Given the description of an element on the screen output the (x, y) to click on. 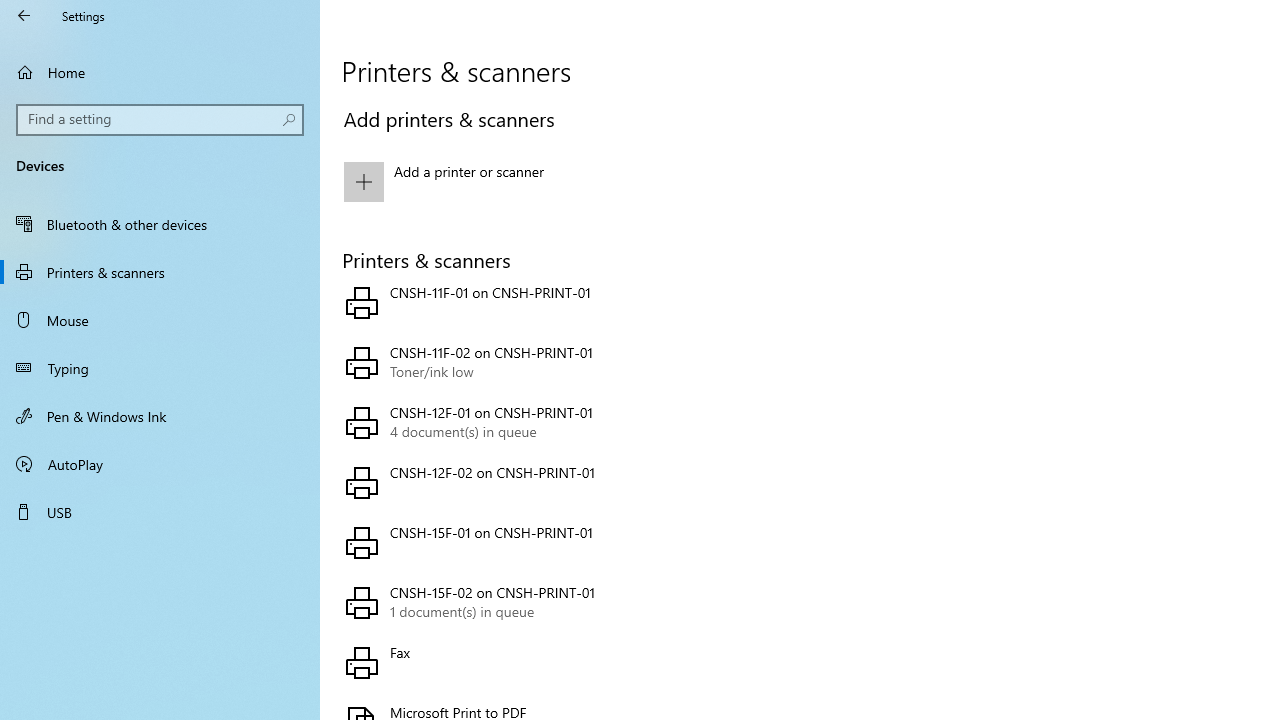
Typing (160, 367)
USB (160, 511)
Pen & Windows Ink (160, 415)
CNSH-12F-01 on CNSH-PRINT-01 4 document(s) in queue (563, 422)
Add a printer or scanner (563, 181)
Fax (563, 662)
Printers & scanners (160, 271)
CNSH-11F-01 on CNSH-PRINT-01 (563, 302)
Bluetooth & other devices (160, 223)
Mouse (160, 319)
CNSH-15F-01 on CNSH-PRINT-01 (563, 542)
Search box, Find a setting (160, 119)
CNSH-12F-02 on CNSH-PRINT-01 (563, 482)
